Given the description of an element on the screen output the (x, y) to click on. 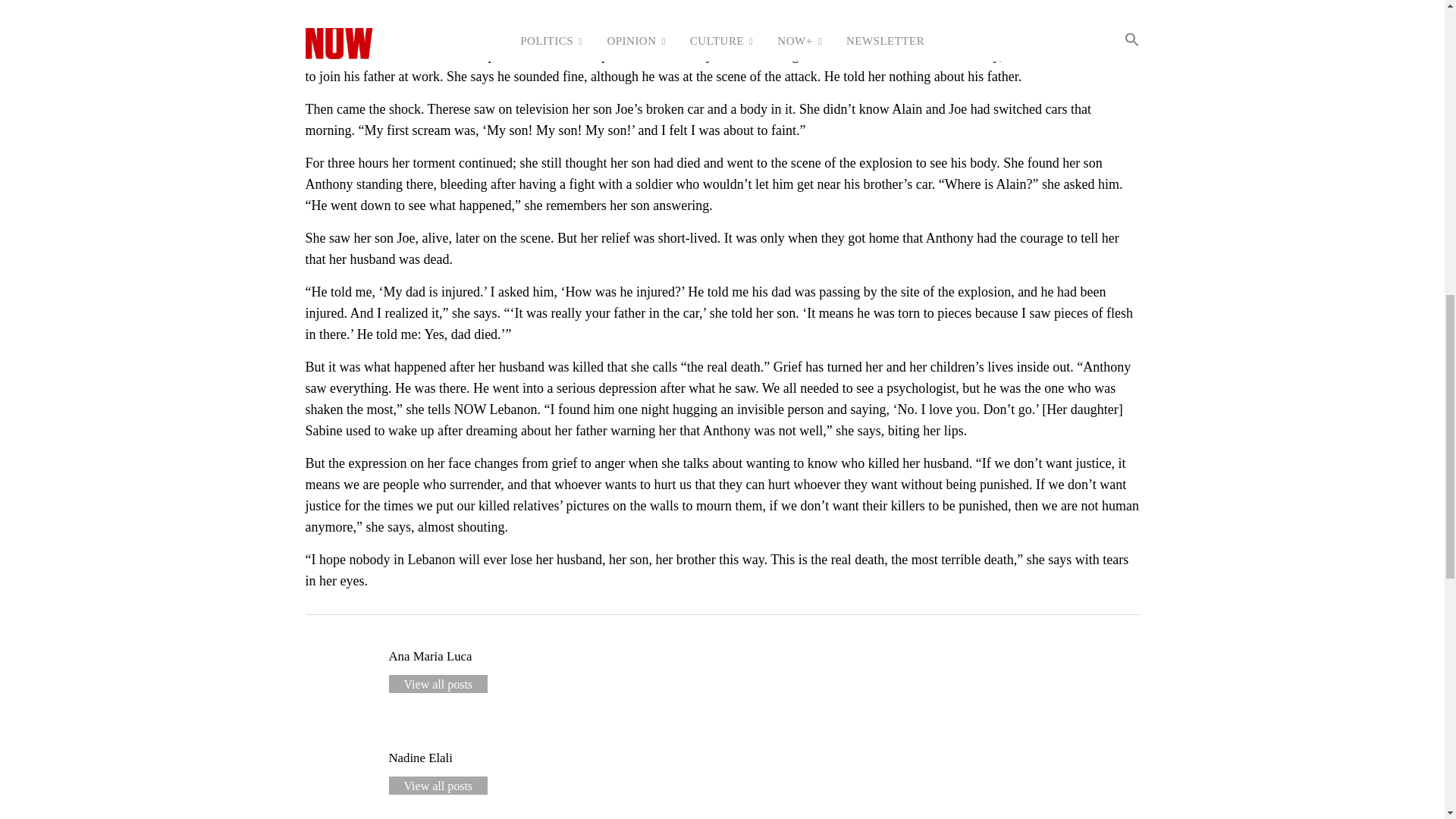
View all posts (437, 785)
Ana Maria Luca (429, 656)
Nadine Elali (419, 757)
View all posts (437, 683)
